Given the description of an element on the screen output the (x, y) to click on. 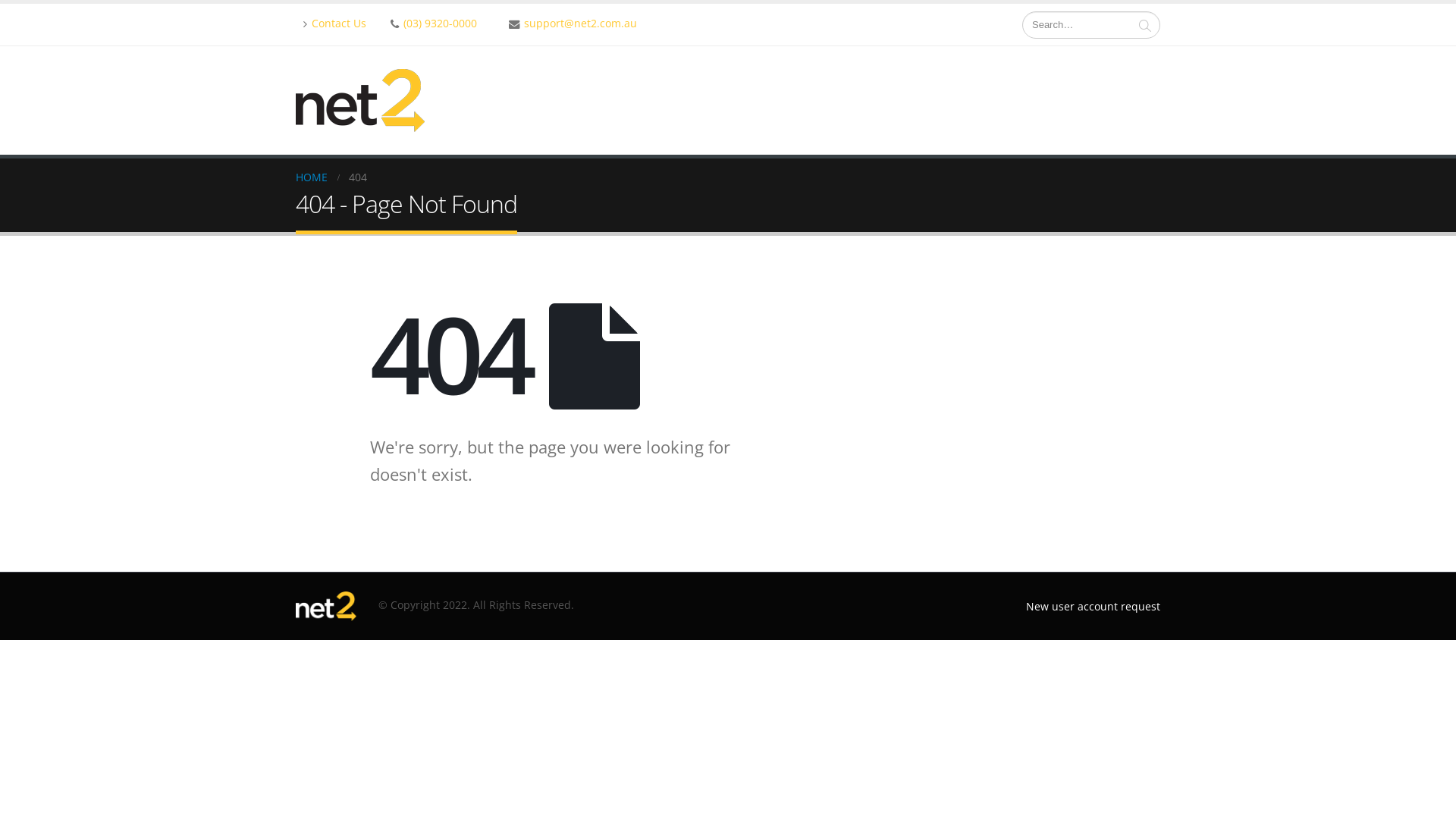
New user account request Element type: text (1093, 606)
(03) 9320-0000 Element type: text (433, 22)
Contact Us Element type: text (334, 23)
HOME Element type: text (311, 177)
support@net2.com.au Element type: text (572, 22)
Search Element type: hover (1145, 24)
